Given the description of an element on the screen output the (x, y) to click on. 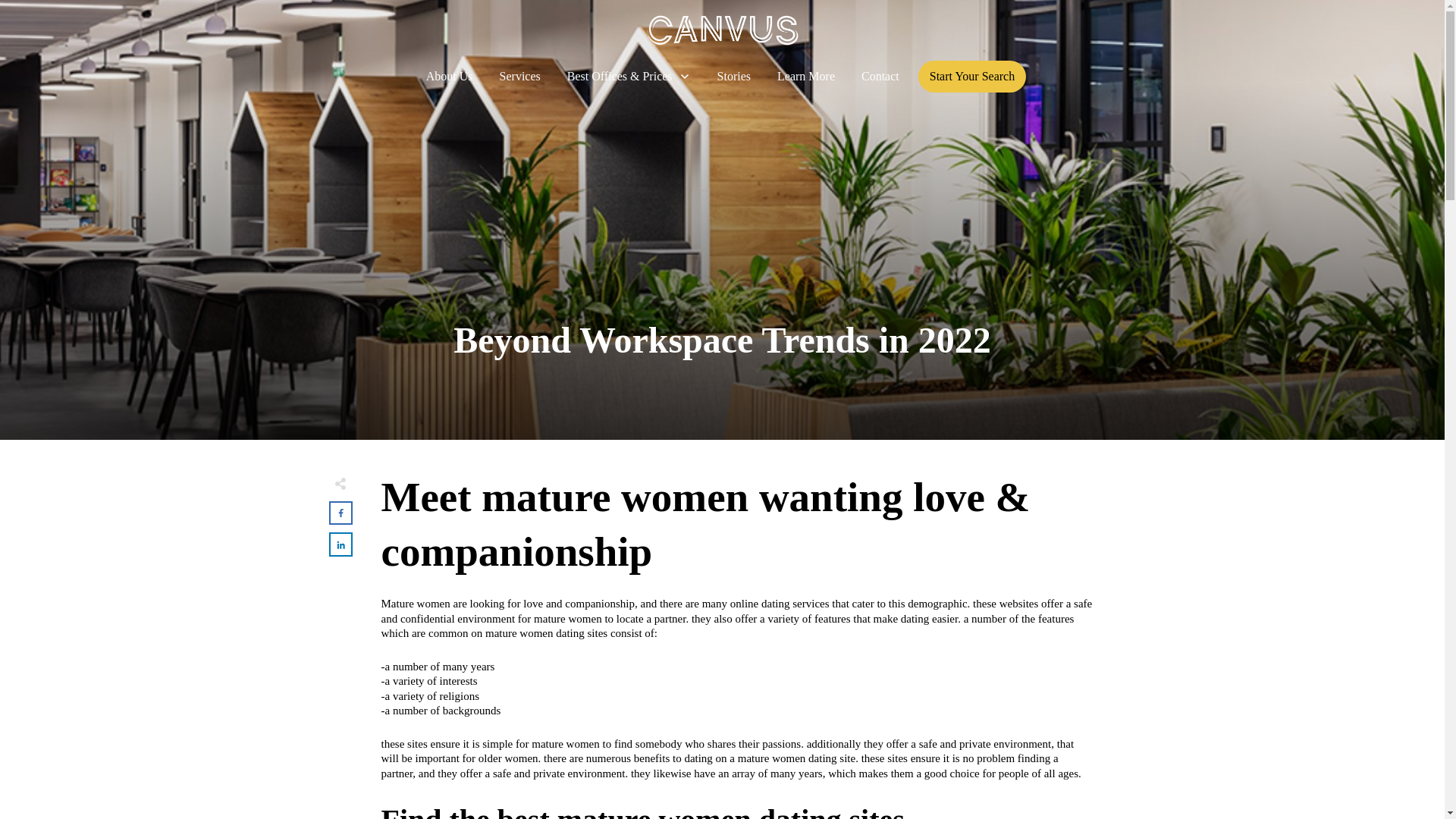
Start Your Search (972, 76)
Contact (880, 76)
CanvusLogoBlackTransparent (721, 30)
Services (519, 76)
Learn More (805, 76)
About Us (449, 76)
Stories (734, 76)
